Given the description of an element on the screen output the (x, y) to click on. 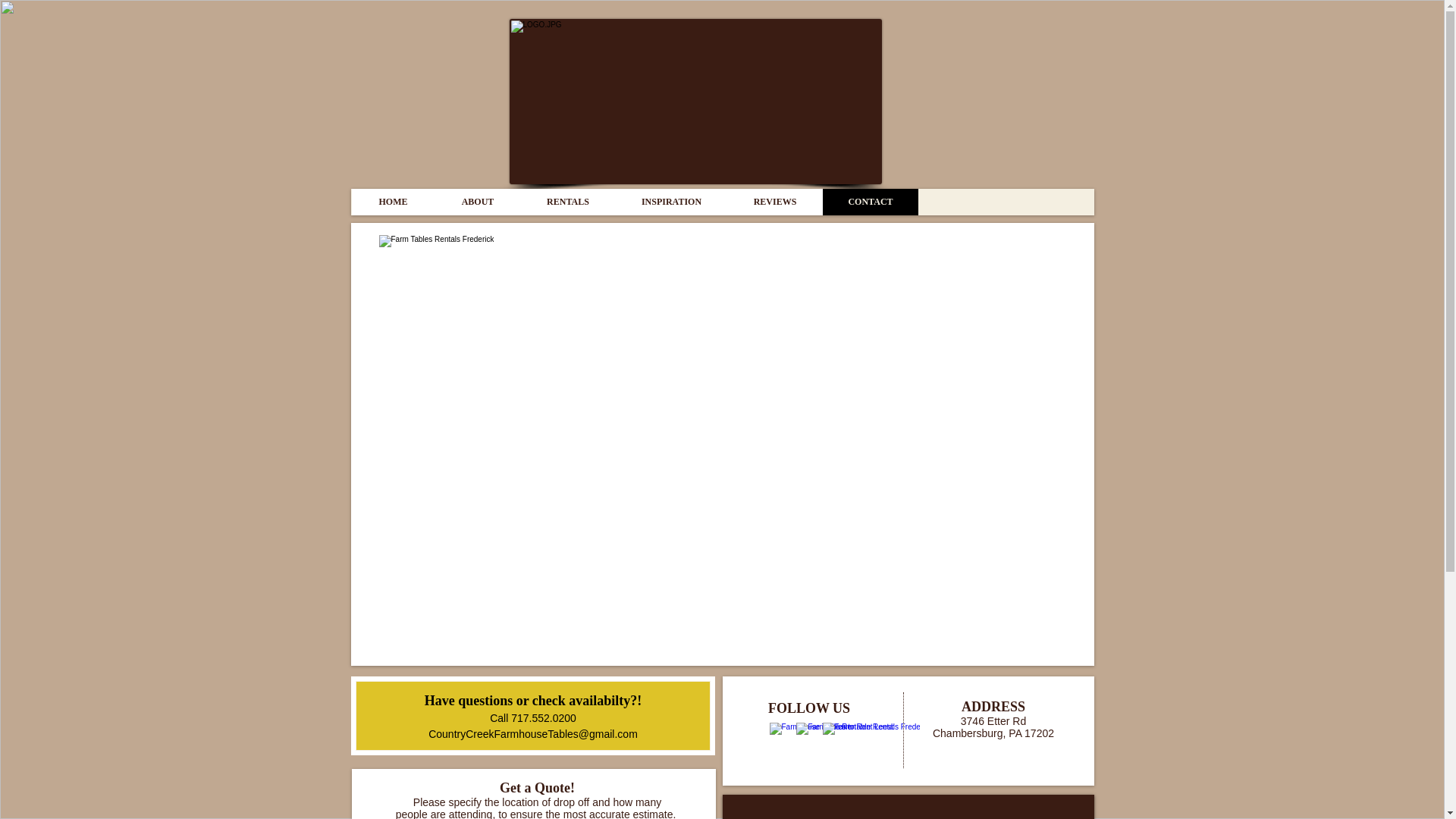
INSPIRATION (670, 202)
RENTALS (567, 202)
REVIEWS (774, 202)
CONTACT (869, 202)
HOME (393, 202)
CountryCreekFarmhouseTables4.png (695, 101)
ABOUT (477, 202)
